Given the description of an element on the screen output the (x, y) to click on. 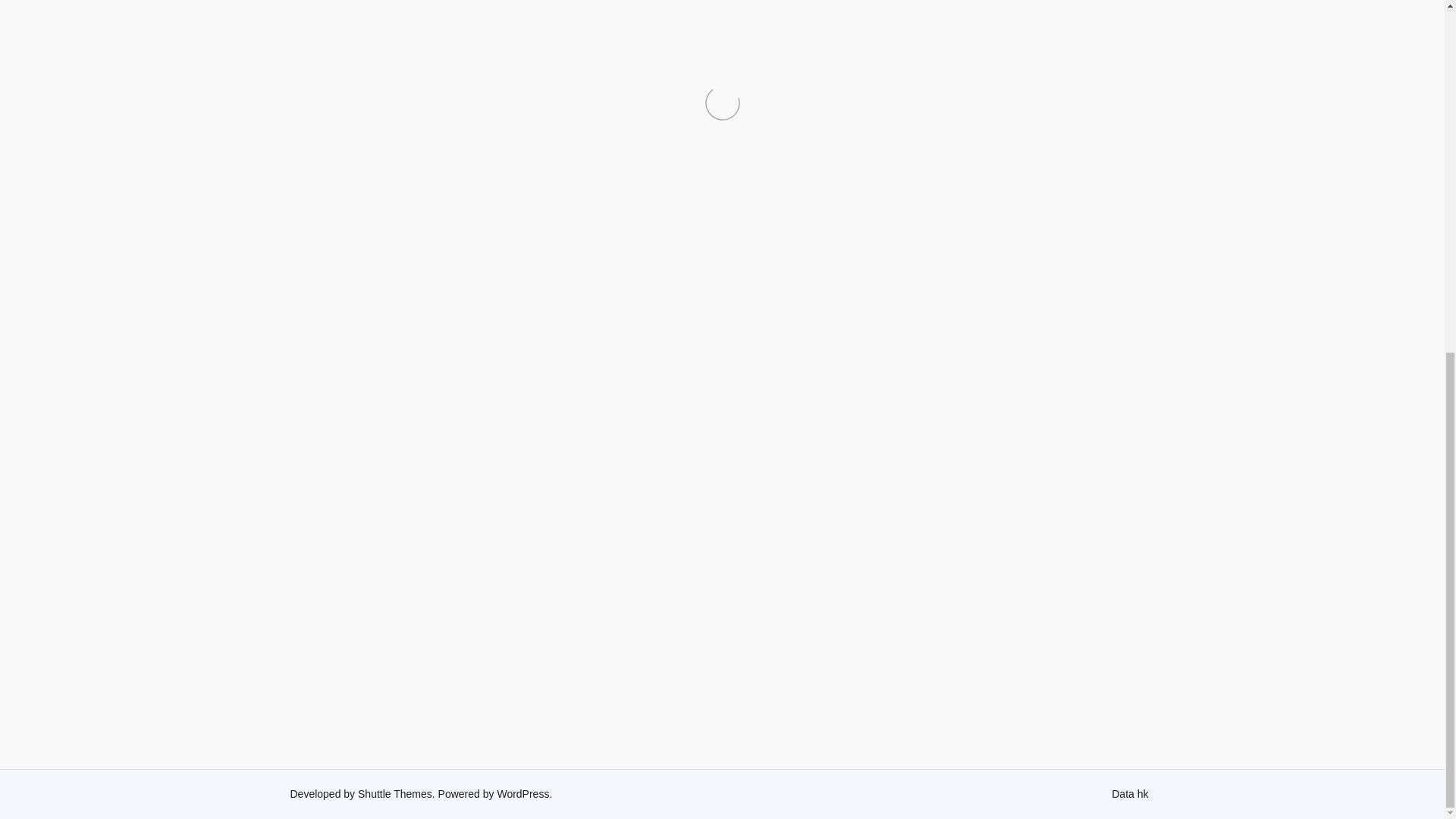
WordPress (522, 793)
Data hk (1129, 793)
PREV (369, 704)
NEXT (1074, 704)
Shuttle Themes (395, 793)
